Given the description of an element on the screen output the (x, y) to click on. 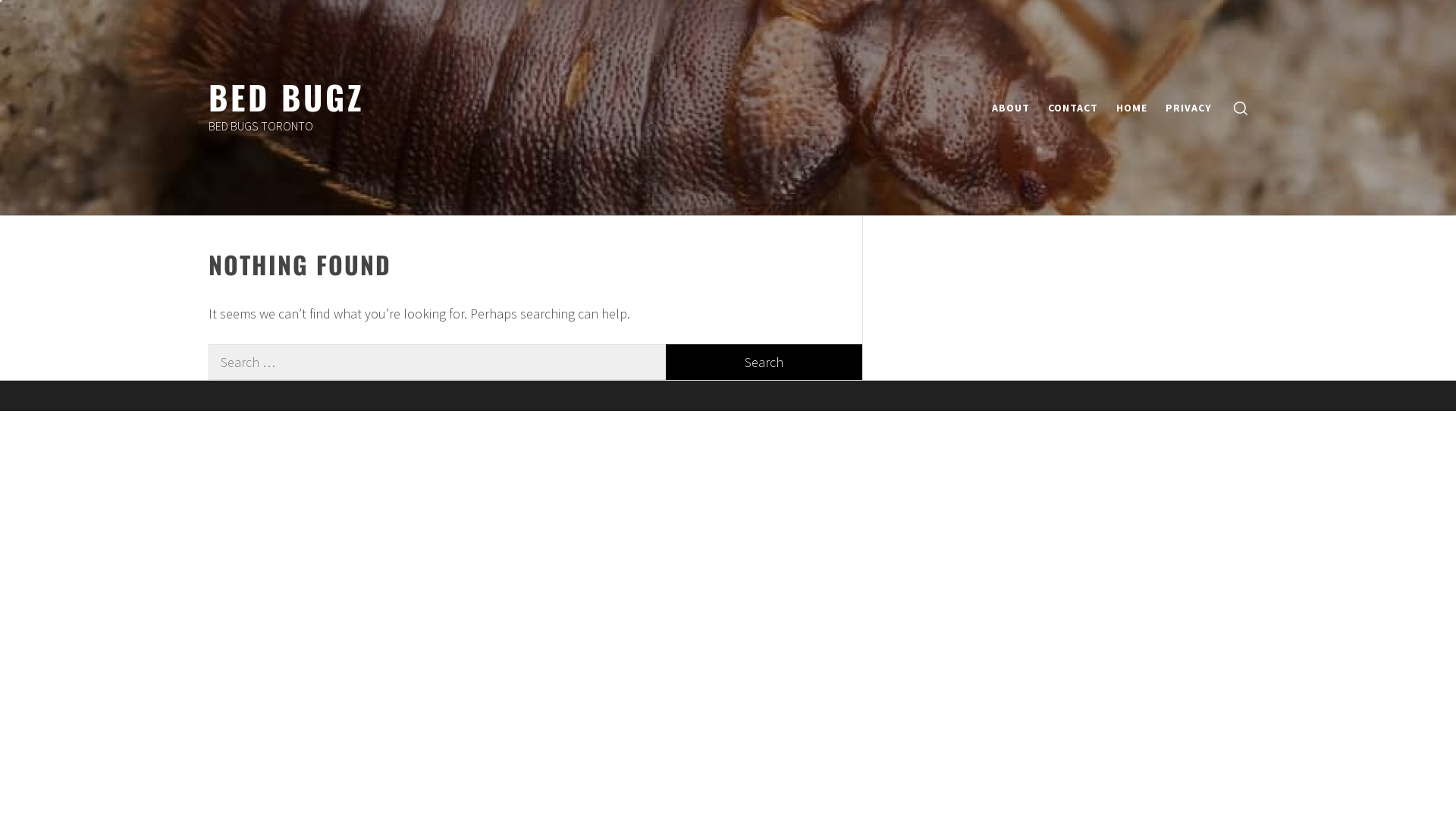
ABOUT Element type: text (1010, 107)
Search Element type: text (803, 409)
CONTACT Element type: text (1072, 107)
PRIVACY Element type: text (1188, 107)
Search Element type: text (763, 361)
BED BUGZ Element type: text (286, 96)
HOME Element type: text (1131, 107)
